Given the description of an element on the screen output the (x, y) to click on. 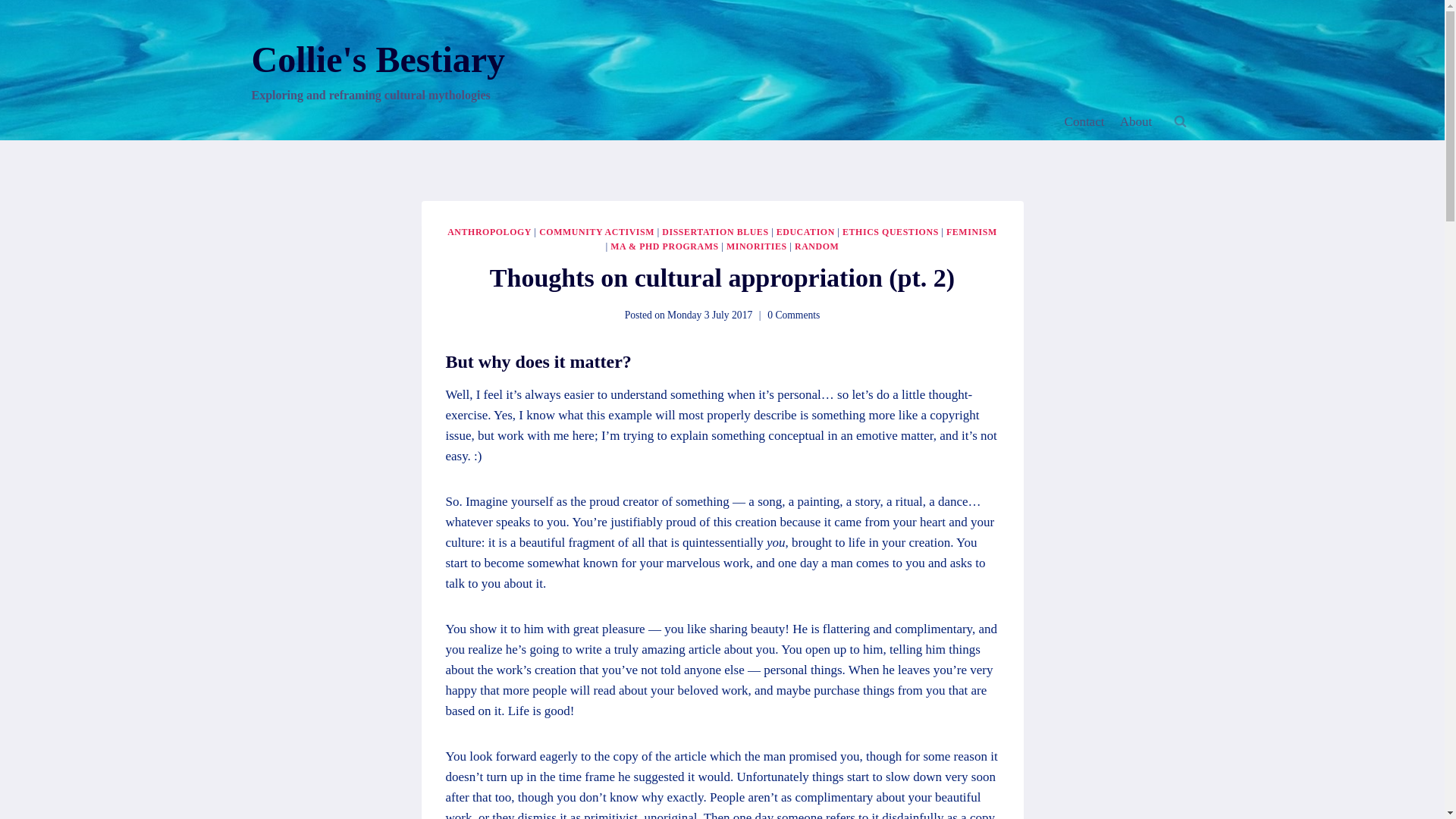
EDUCATION (805, 231)
ANTHROPOLOGY (488, 231)
ETHICS QUESTIONS (891, 231)
FEMINISM (971, 231)
0 Comments (793, 315)
About (1136, 122)
RANDOM (816, 245)
Contact (1084, 122)
DISSERTATION BLUES (715, 231)
0 Comments (793, 315)
COMMUNITY ACTIVISM (595, 231)
MINORITIES (756, 245)
